Given the description of an element on the screen output the (x, y) to click on. 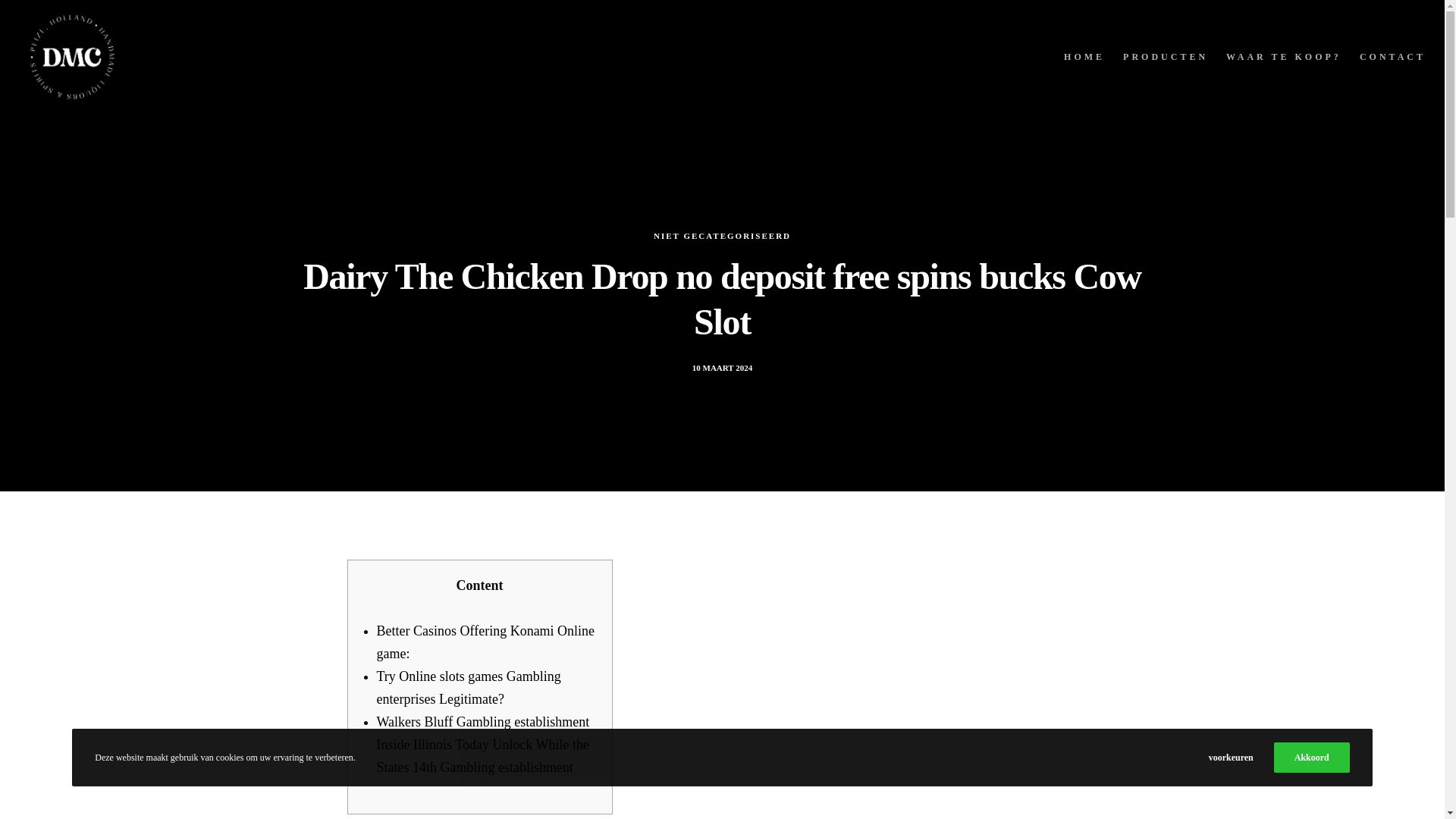
Akkoord (1311, 757)
NIET GECATEGORISEERD (721, 244)
Try Online slots games Gambling enterprises Legitimate? (467, 687)
voorkeuren (1230, 757)
Better Casinos Offering Konami Online game: (484, 641)
PRODUCTEN (1156, 56)
WAAR TE KOOP? (1274, 56)
